Given the description of an element on the screen output the (x, y) to click on. 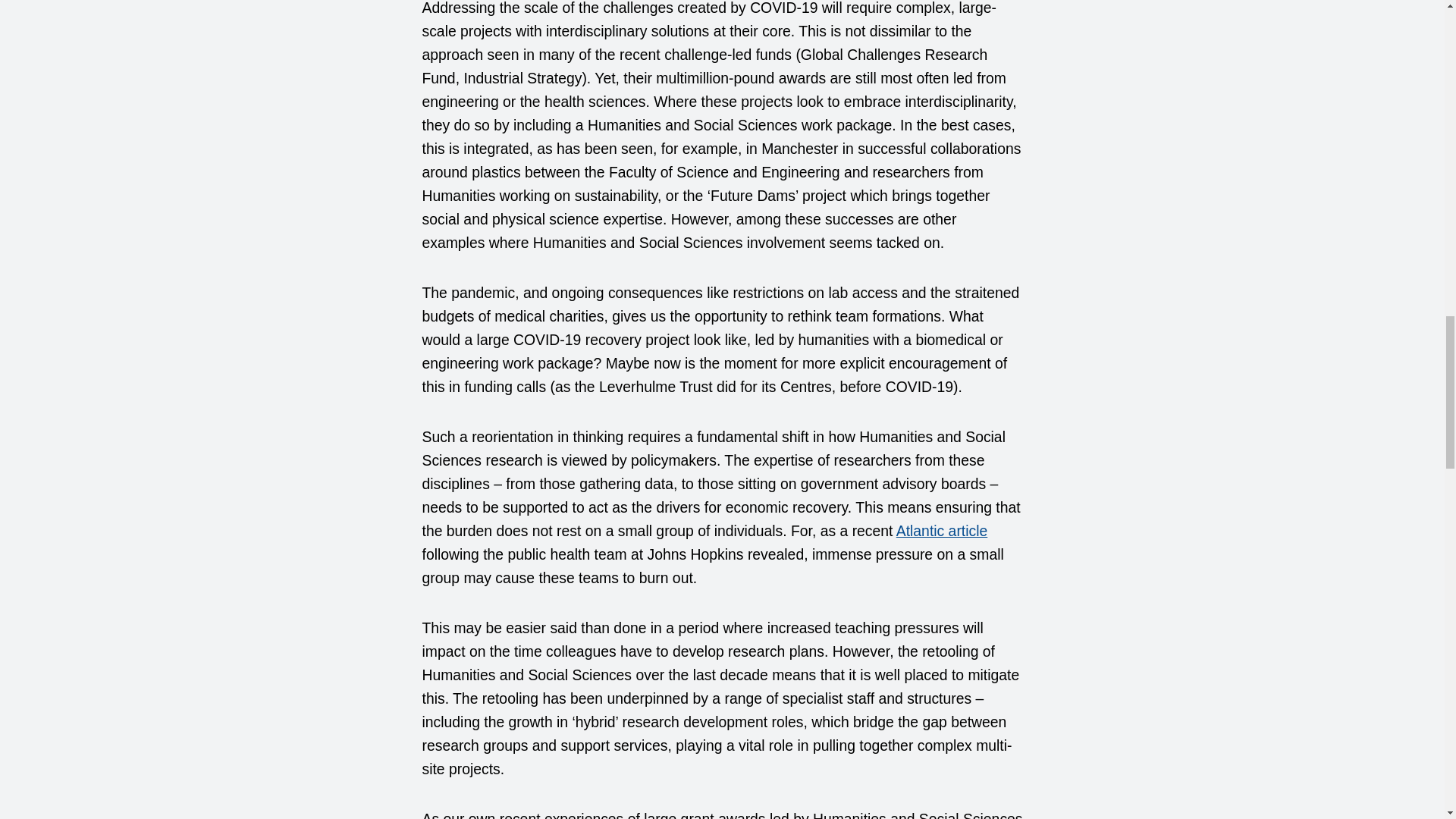
Atlantic article (942, 530)
